Given the description of an element on the screen output the (x, y) to click on. 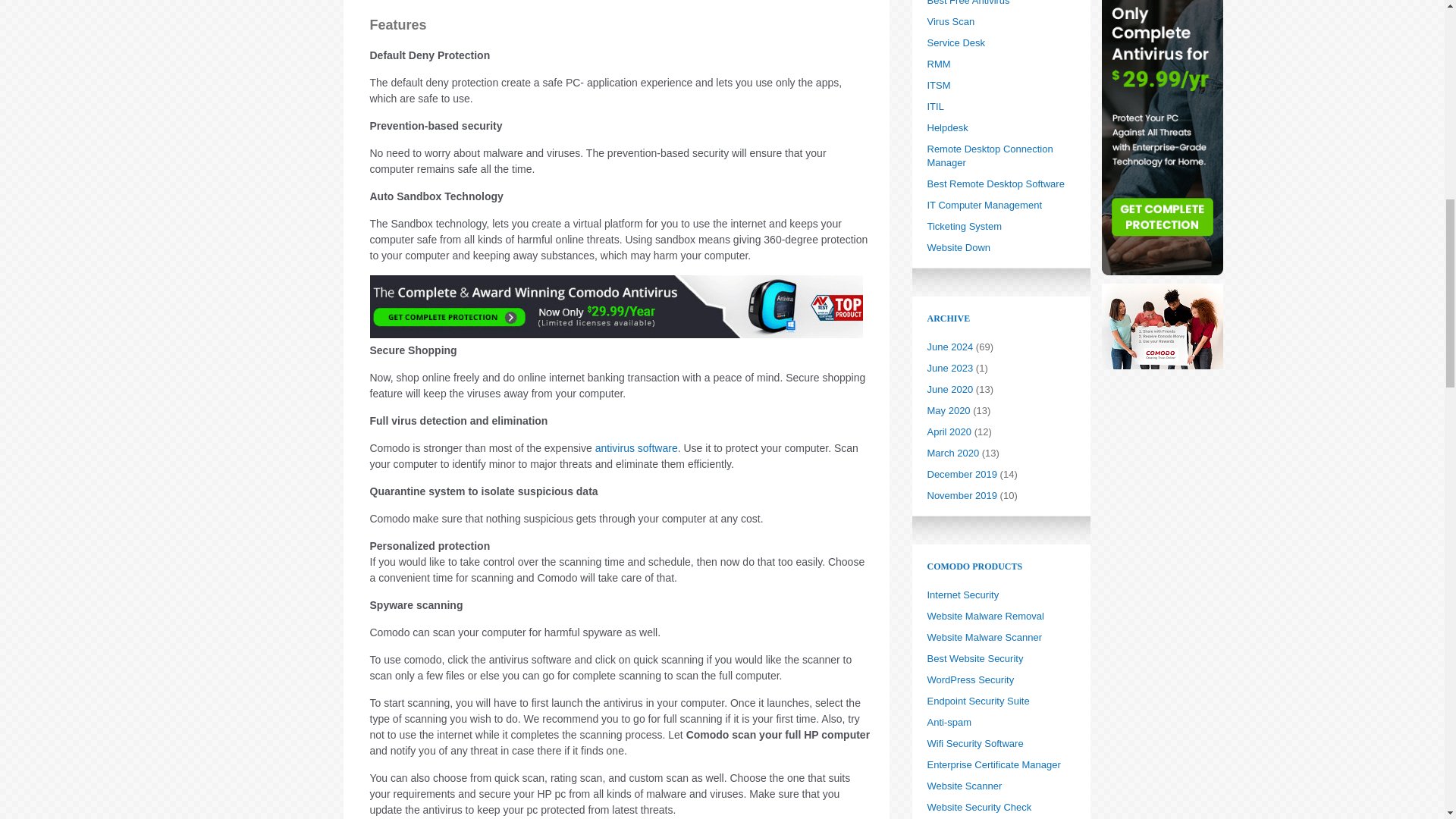
antivirus software (636, 447)
